Given the description of an element on the screen output the (x, y) to click on. 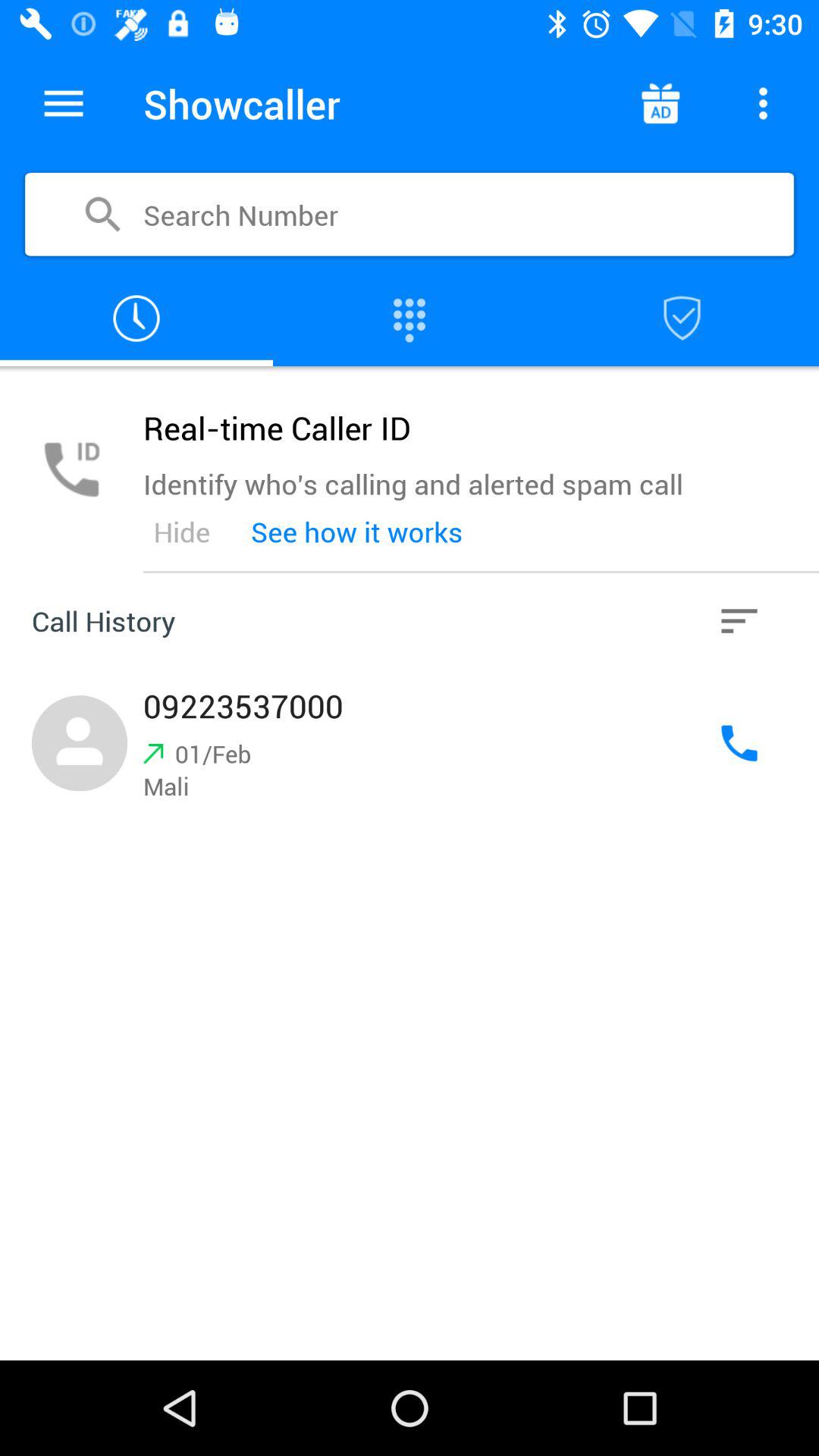
make phone call (409, 318)
